Given the description of an element on the screen output the (x, y) to click on. 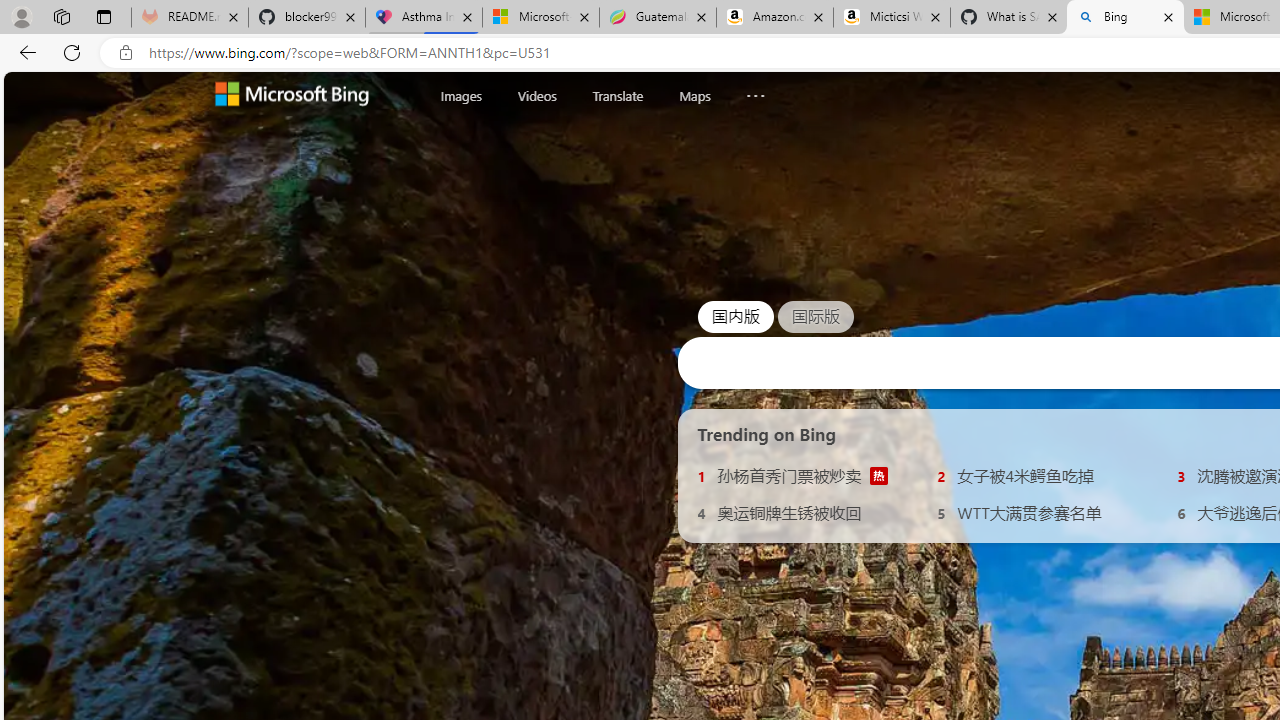
Images (461, 95)
Videos (536, 95)
Maps (694, 95)
Trending on Bing (767, 434)
Translate (617, 95)
Welcome to Bing Search (291, 96)
Videos (536, 95)
